Given the description of an element on the screen output the (x, y) to click on. 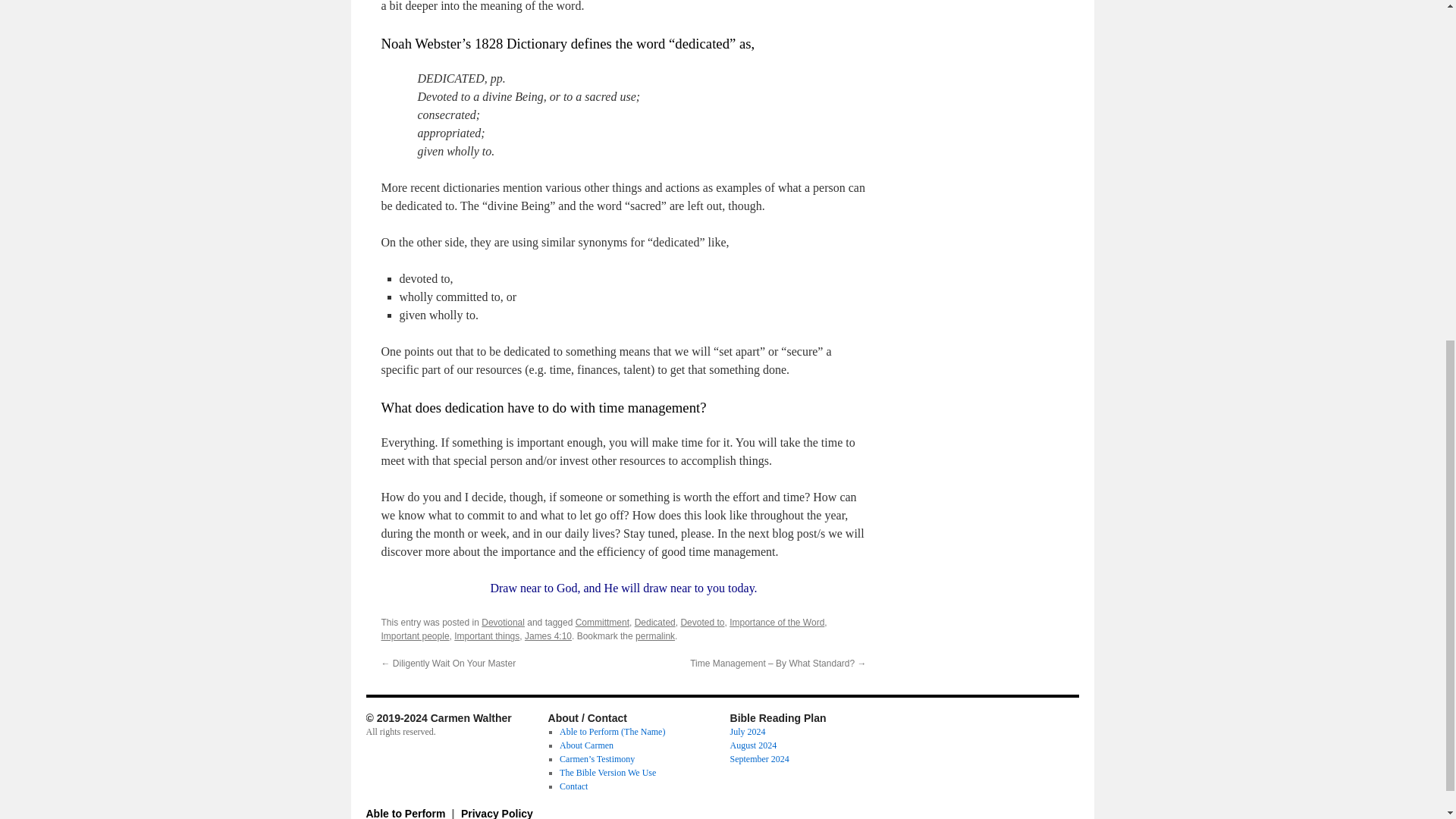
James 4:10 (548, 635)
Dedicated (654, 622)
August 2024 (752, 745)
Contact (573, 786)
The Bible Version We Use (607, 772)
July 2024 (747, 731)
Devotional (502, 622)
Devoted to (701, 622)
Permalink to Dedicated (654, 635)
permalink (654, 635)
Committment (601, 622)
September 2024 (759, 758)
Important things (486, 635)
Important people (414, 635)
About Carmen (585, 745)
